Given the description of an element on the screen output the (x, y) to click on. 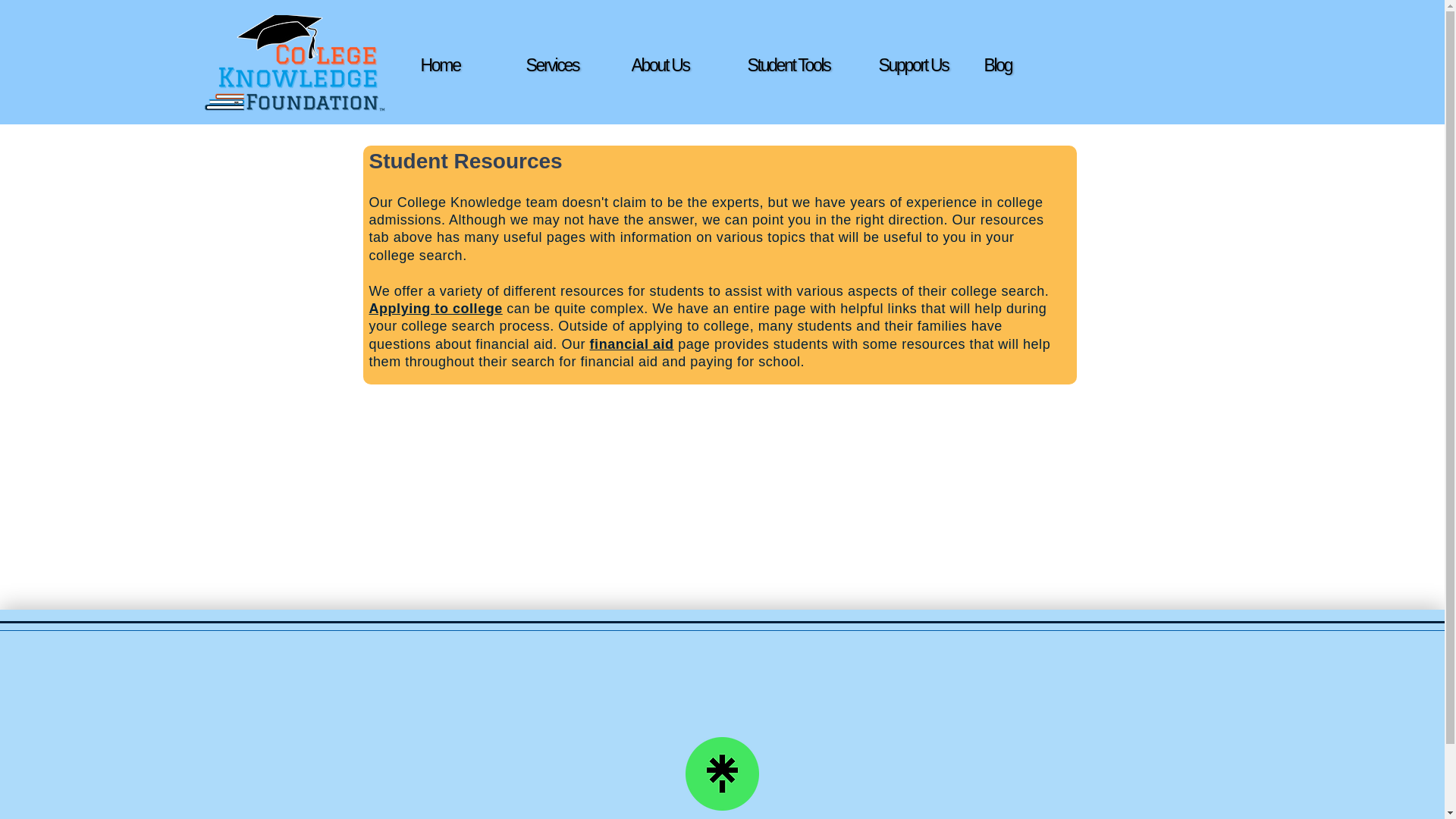
Home (472, 65)
Student Tools (800, 65)
Blog (1024, 65)
Services (578, 65)
Support Us (930, 65)
About Us (683, 65)
